Given the description of an element on the screen output the (x, y) to click on. 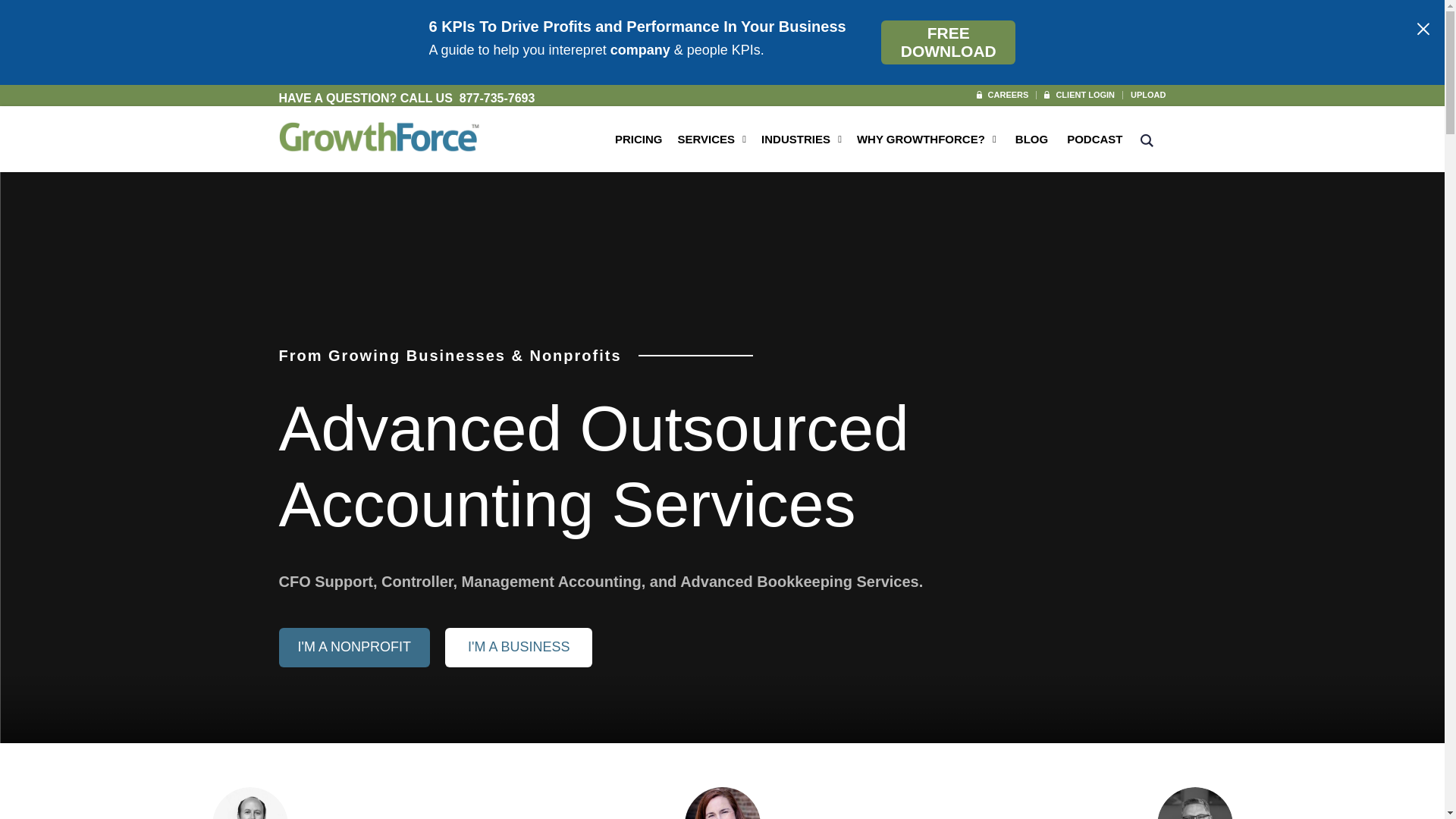
CAREERS (1002, 94)
WHY GROWTHFORCE? (921, 146)
Popup CTA (722, 42)
877-735-7693 (497, 97)
INDUSTRIES (795, 146)
PRICING (638, 146)
I'M A BUSINESS (518, 647)
PODCAST (1094, 146)
CLIENT LOGIN (1079, 94)
BLOG (1031, 146)
UPLOAD (1144, 94)
Outsourced Accounting Home (381, 137)
I'M A NONPROFIT (354, 647)
I'M A NONPROFIT (354, 647)
I'M A BUSINESS (518, 647)
